Given the description of an element on the screen output the (x, y) to click on. 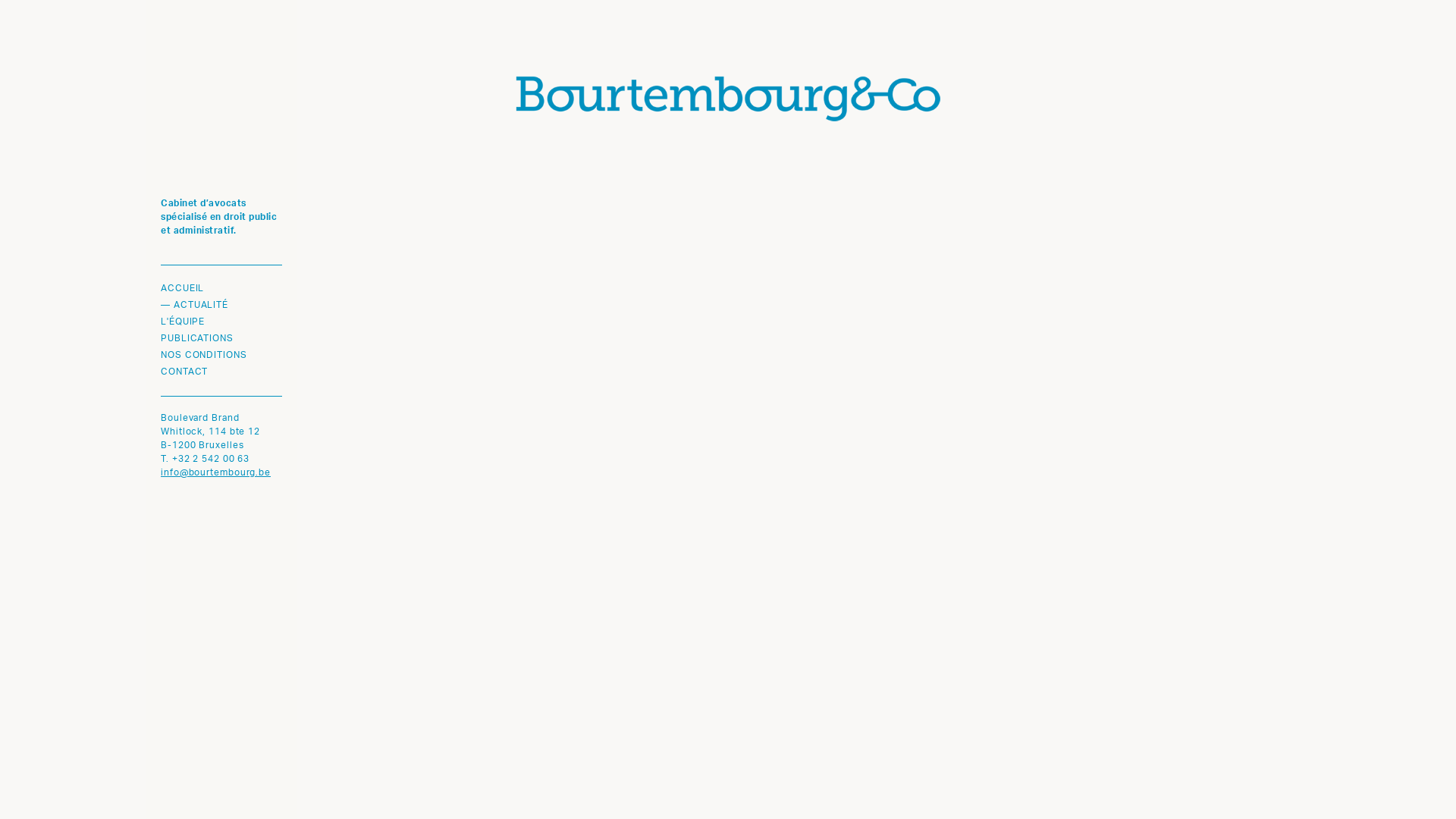
CONTACT Element type: text (221, 372)
ACCUEIL Element type: text (221, 288)
PUBLICATIONS Element type: text (221, 338)
NOS CONDITIONS Element type: text (221, 355)
info@bourtembourg.be Element type: text (215, 473)
